Given the description of an element on the screen output the (x, y) to click on. 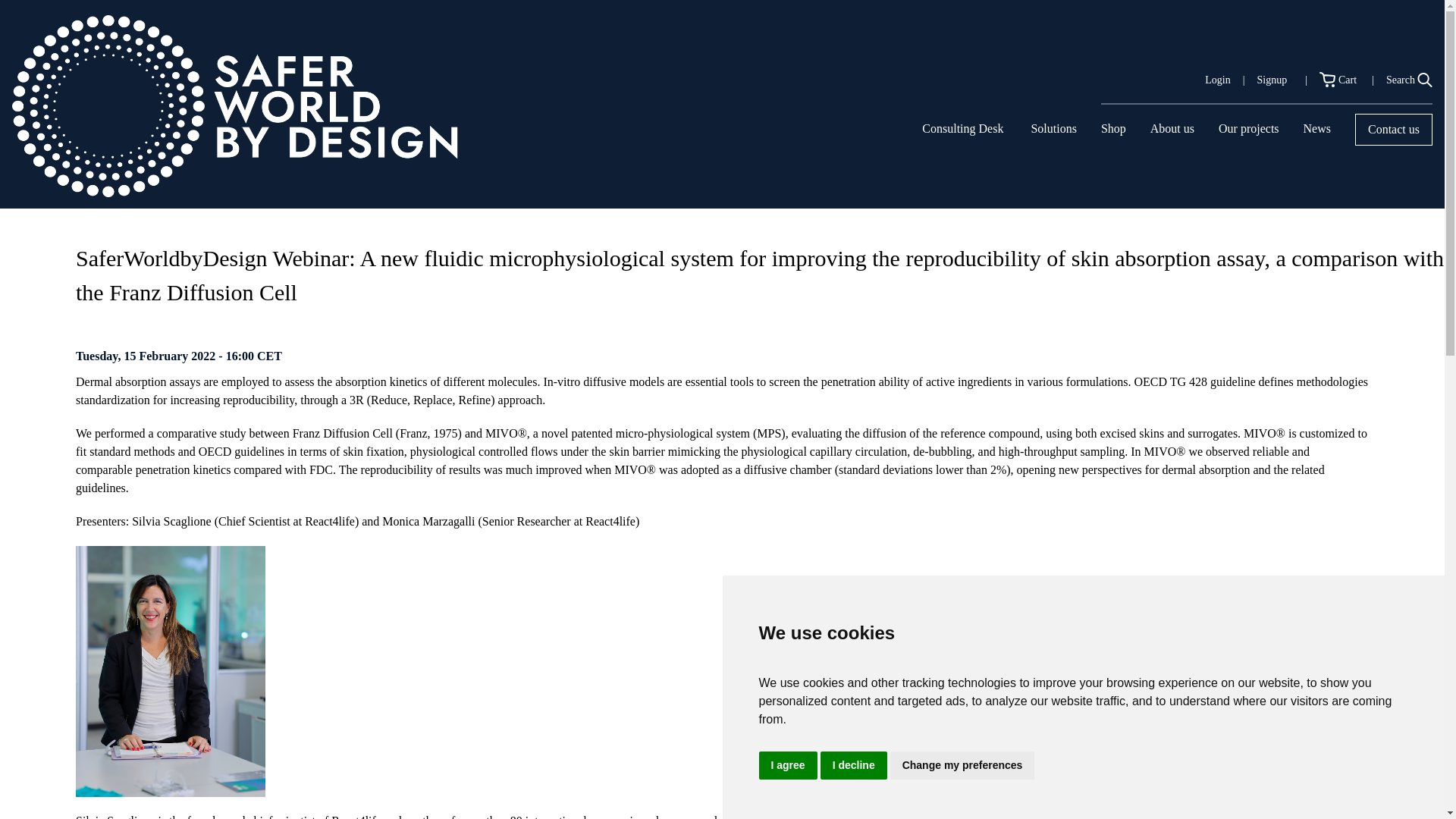
Search (1409, 79)
About us (1171, 128)
Solutions (1052, 128)
Consulting Desk (962, 128)
Login (1217, 79)
Contact us (1393, 129)
Cart (1339, 79)
I decline (853, 765)
I agree (787, 765)
Shop (1112, 132)
Our projects (1248, 128)
Signup (1271, 79)
News (1316, 128)
Change my preferences (962, 765)
